Given the description of an element on the screen output the (x, y) to click on. 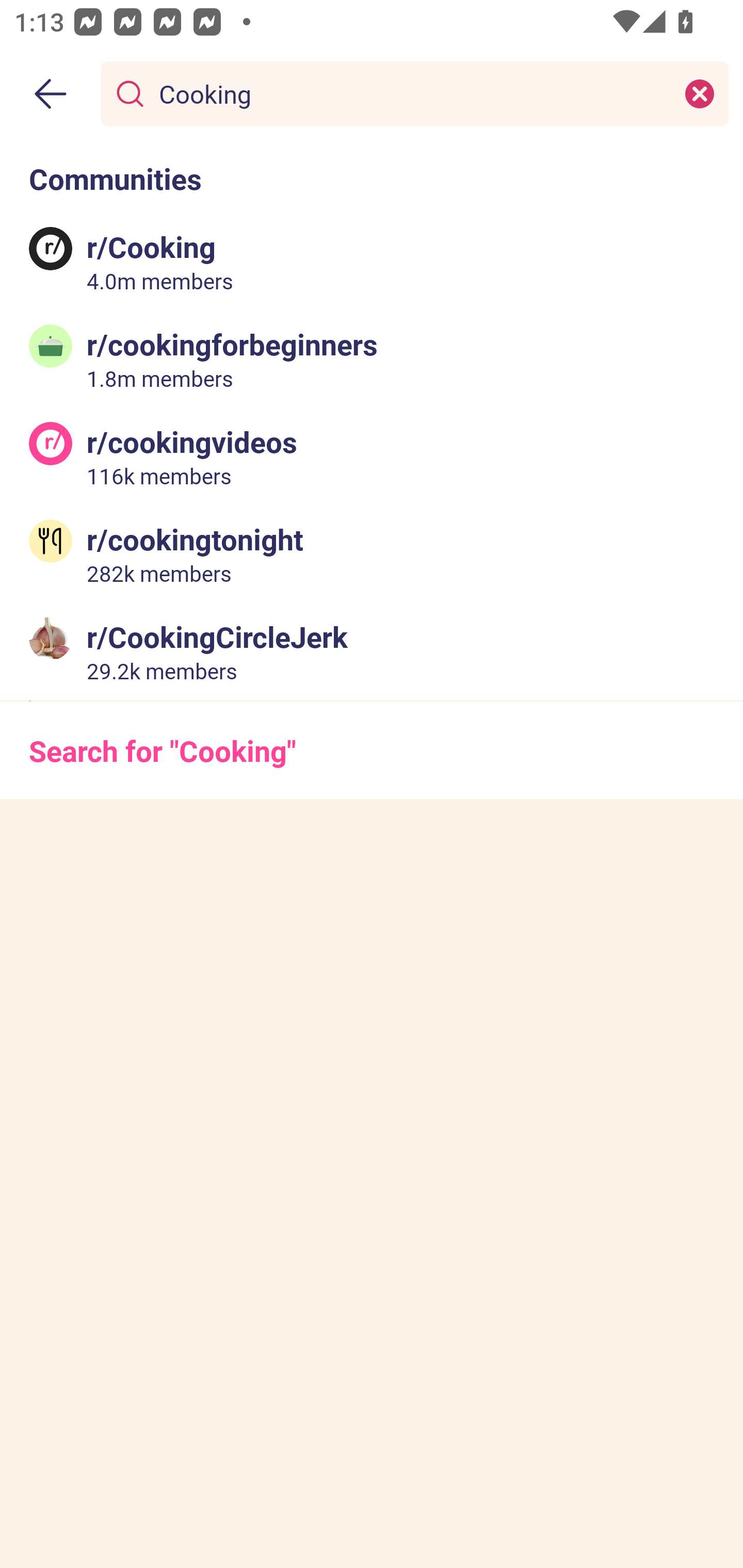
Back (50, 93)
Cooking (410, 93)
Clear search (699, 93)
r/Cooking 4.0m members 4.0 million members (371, 261)
r/cookingvideos 116k members 116 thousand members (371, 455)
r/cookingtonight 282k members 282 thousand members (371, 553)
Search for "Cooking" (371, 750)
